Given the description of an element on the screen output the (x, y) to click on. 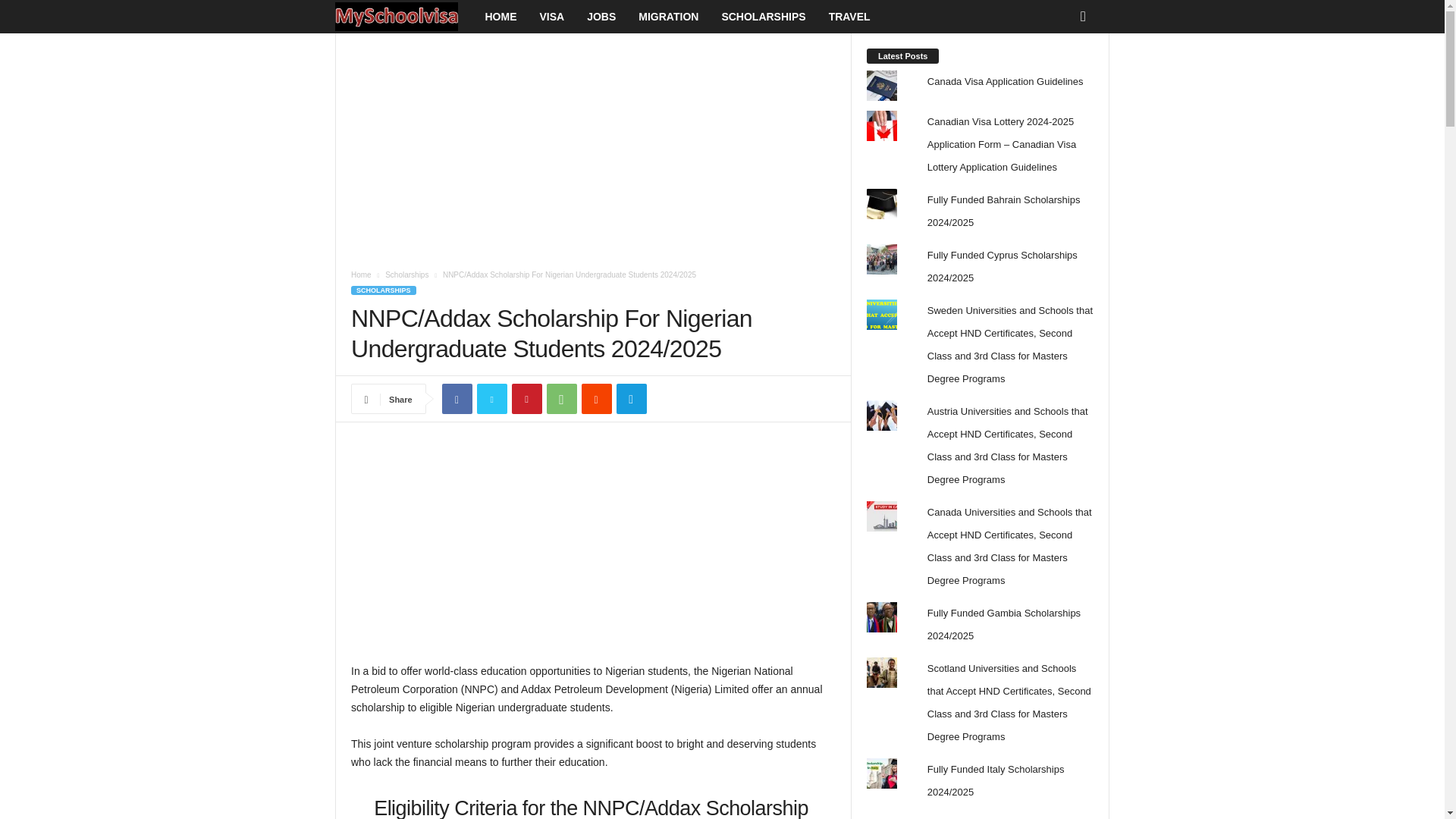
MIGRATION (668, 16)
TRAVEL (849, 16)
VISA (551, 16)
Advertisement (593, 145)
SCHOLARSHIPS (383, 289)
Scholarships (406, 275)
Advertisement (592, 549)
MySchoolVisa (404, 16)
Pinterest (526, 399)
WhatsApp (561, 399)
Twitter (491, 399)
SCHOLARSHIPS (763, 16)
JOBS (601, 16)
Facebook (456, 399)
View all posts in Scholarships (406, 275)
